Given the description of an element on the screen output the (x, y) to click on. 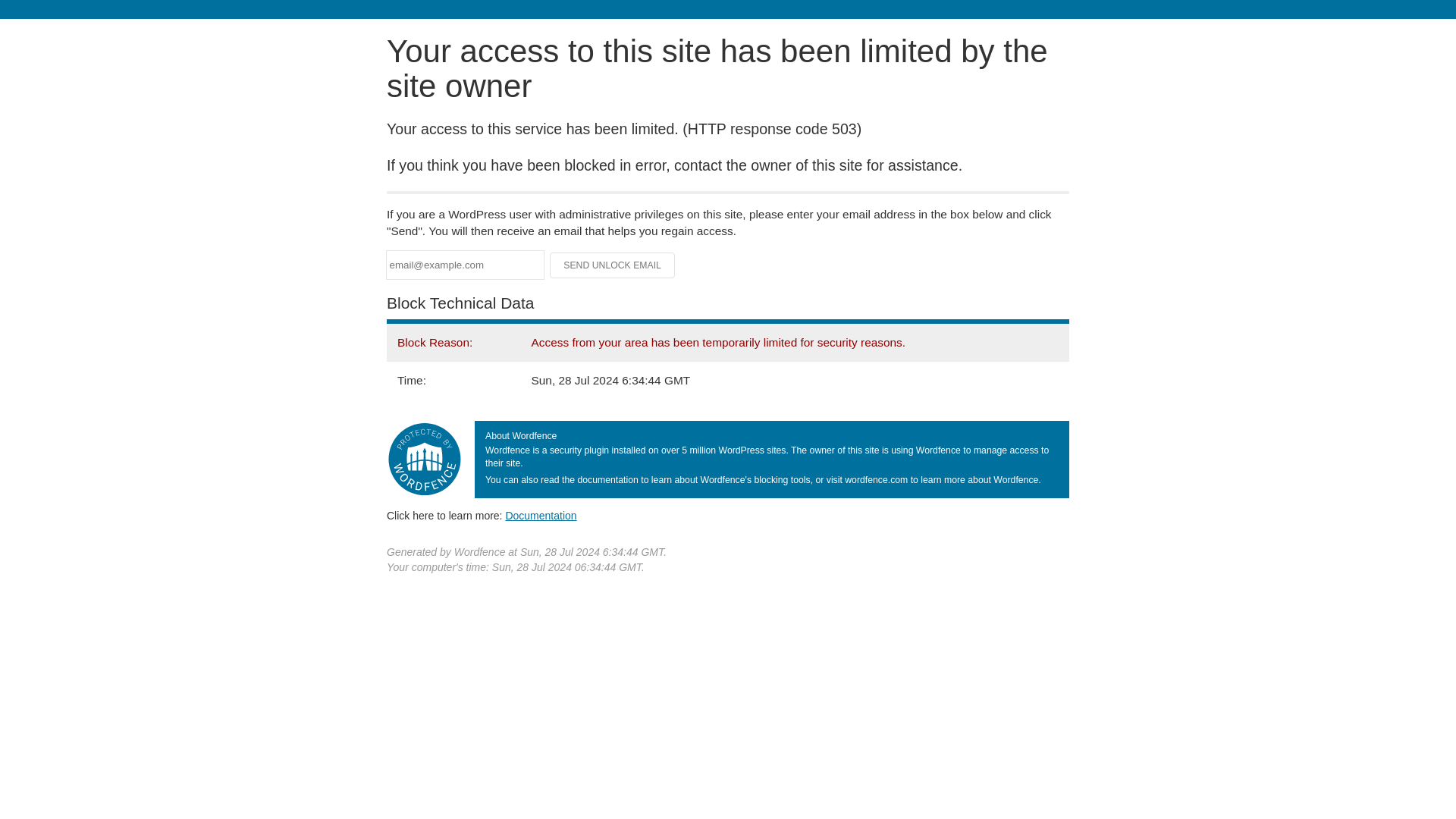
Documentation (540, 515)
Send Unlock Email (612, 265)
Send Unlock Email (612, 265)
